Given the description of an element on the screen output the (x, y) to click on. 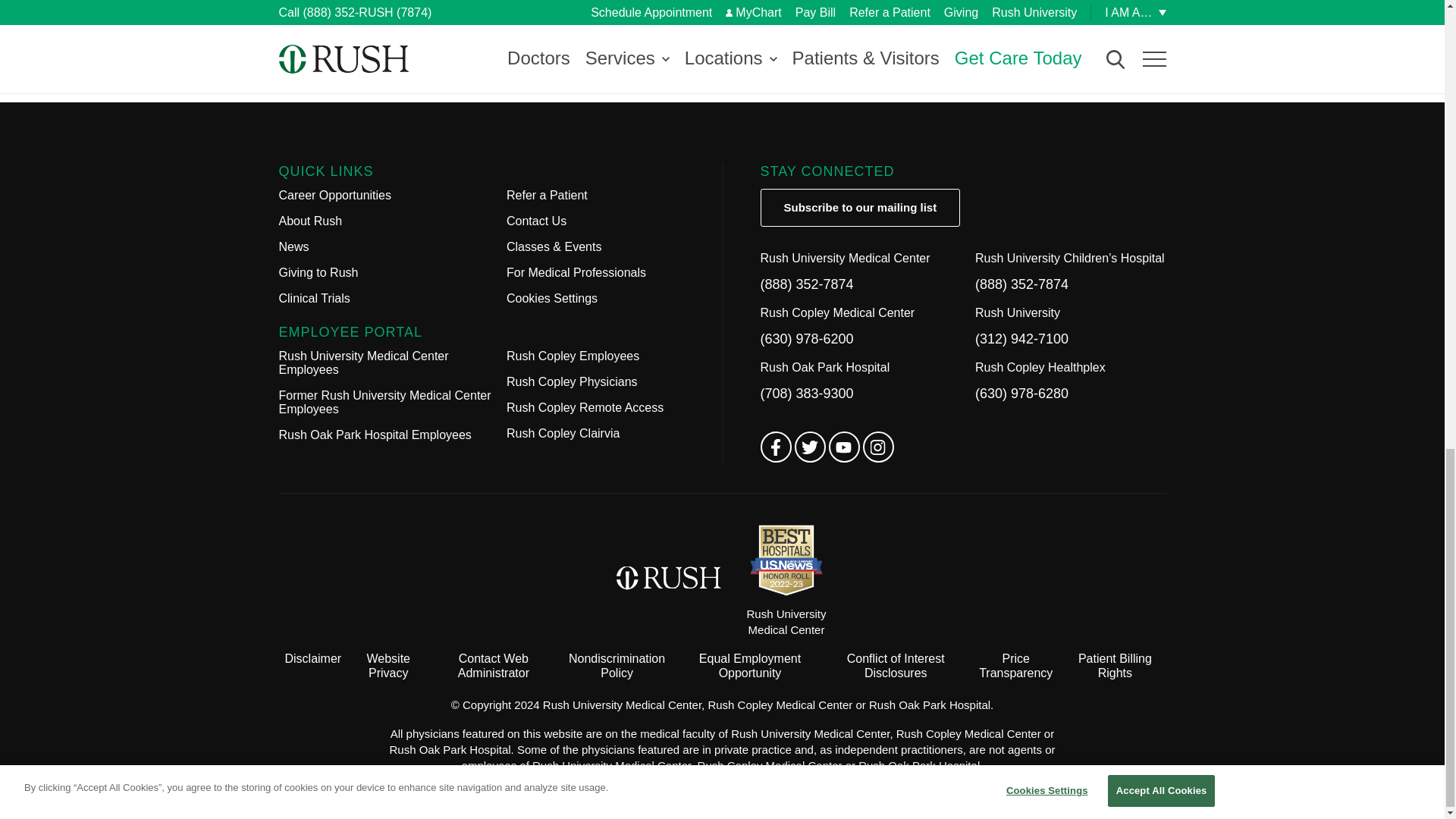
Rush is an equal opportunity employer.  (749, 665)
